Given the description of an element on the screen output the (x, y) to click on. 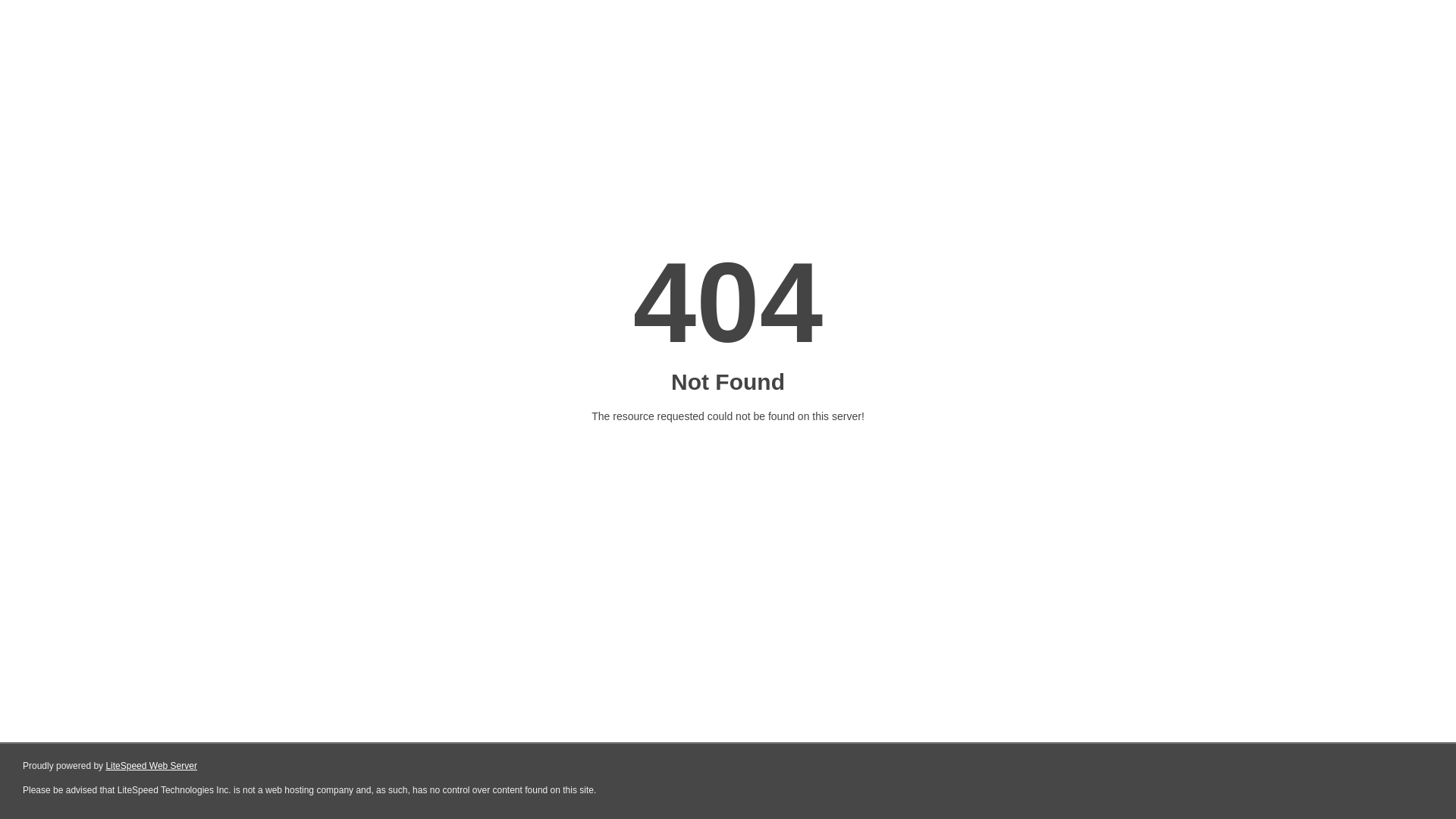
LiteSpeed Web Server Element type: text (151, 765)
